Given the description of an element on the screen output the (x, y) to click on. 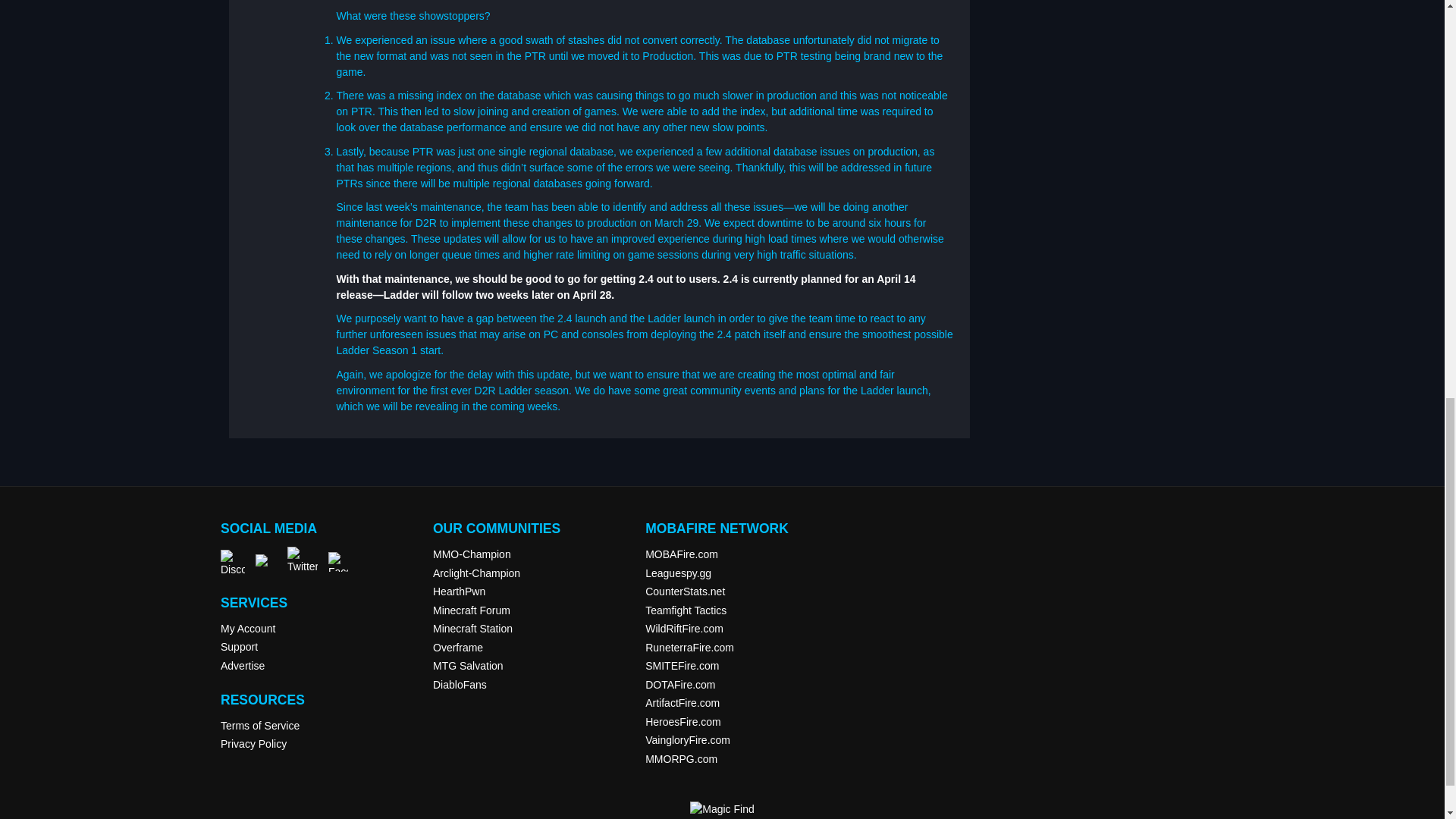
Overframe (457, 647)
MTG Salvation (467, 665)
Advertise (242, 665)
Terms of Service (260, 725)
Support (239, 646)
Arclight-Champion (475, 573)
Minecraft Station (472, 628)
Minecraft Forum (471, 609)
MMO-Champion (471, 553)
Privacy Policy (253, 743)
